Given the description of an element on the screen output the (x, y) to click on. 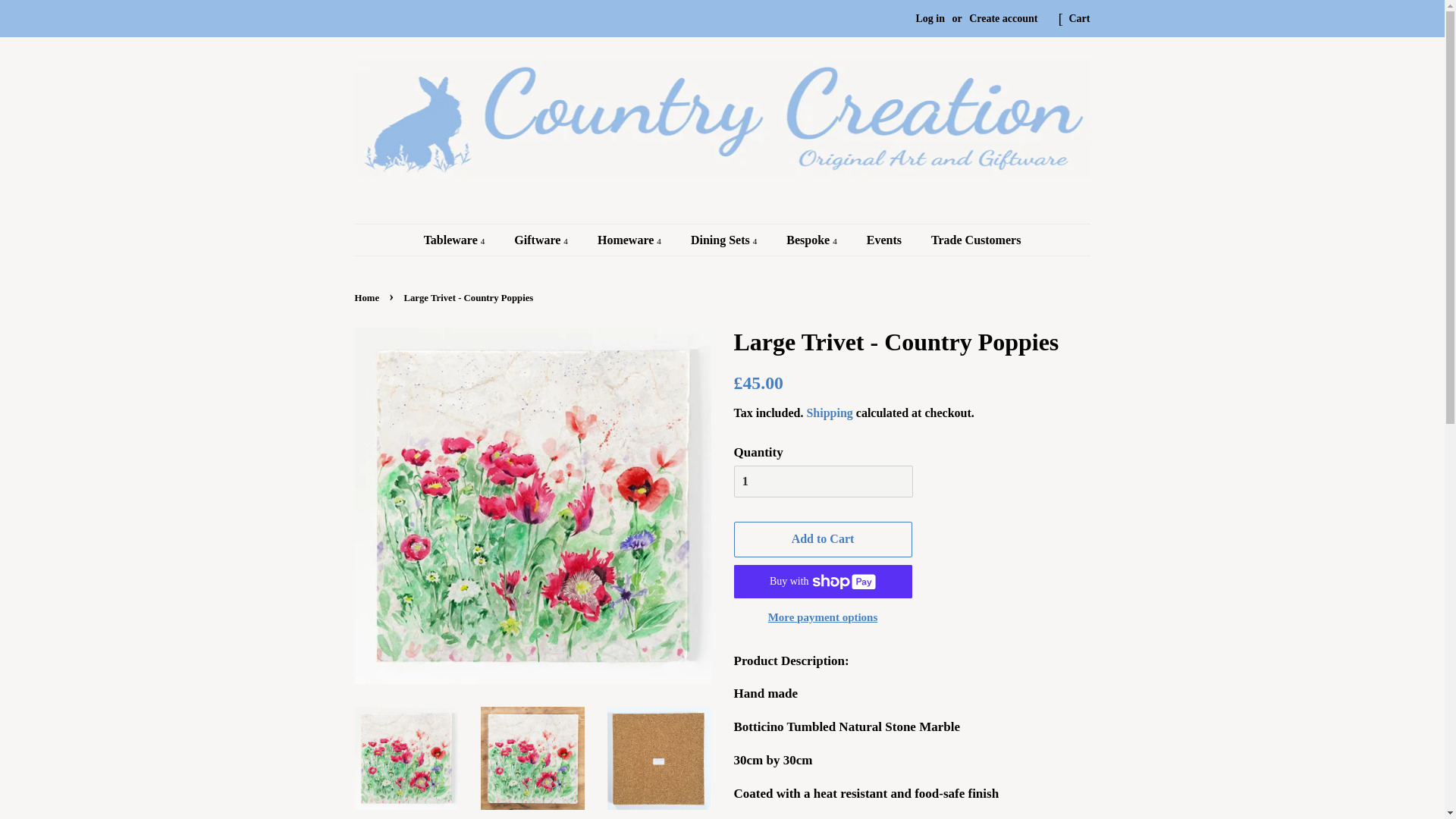
1 (822, 481)
Log in (929, 18)
Back to the frontpage (369, 297)
Cart (1079, 18)
Create account (1002, 18)
